Given the description of an element on the screen output the (x, y) to click on. 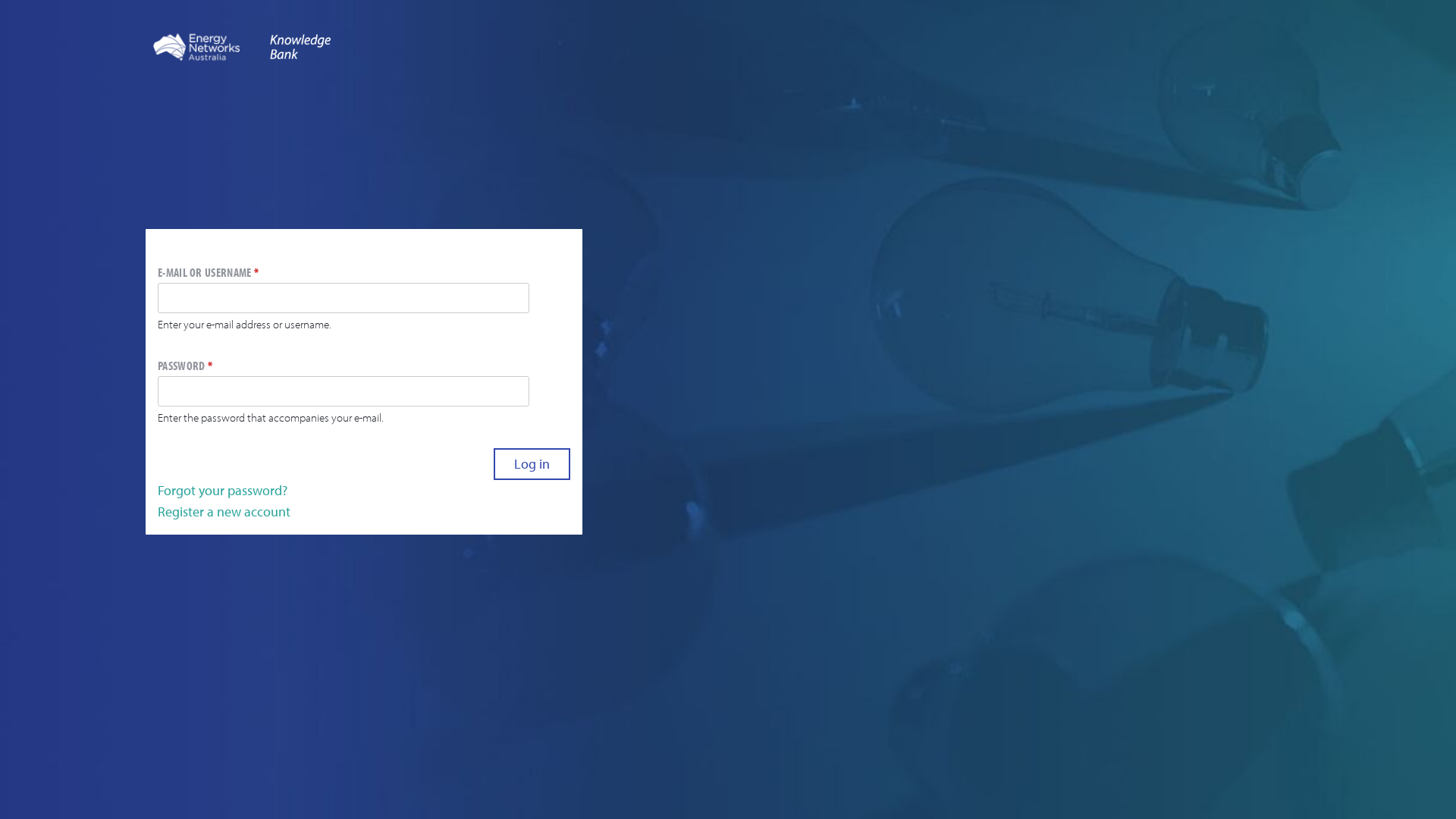
Register a new account Element type: text (223, 511)
Forgot your password? Element type: text (222, 489)
ENA Knowledge Bank Element type: text (196, 45)
Log in Element type: text (531, 464)
